Given the description of an element on the screen output the (x, y) to click on. 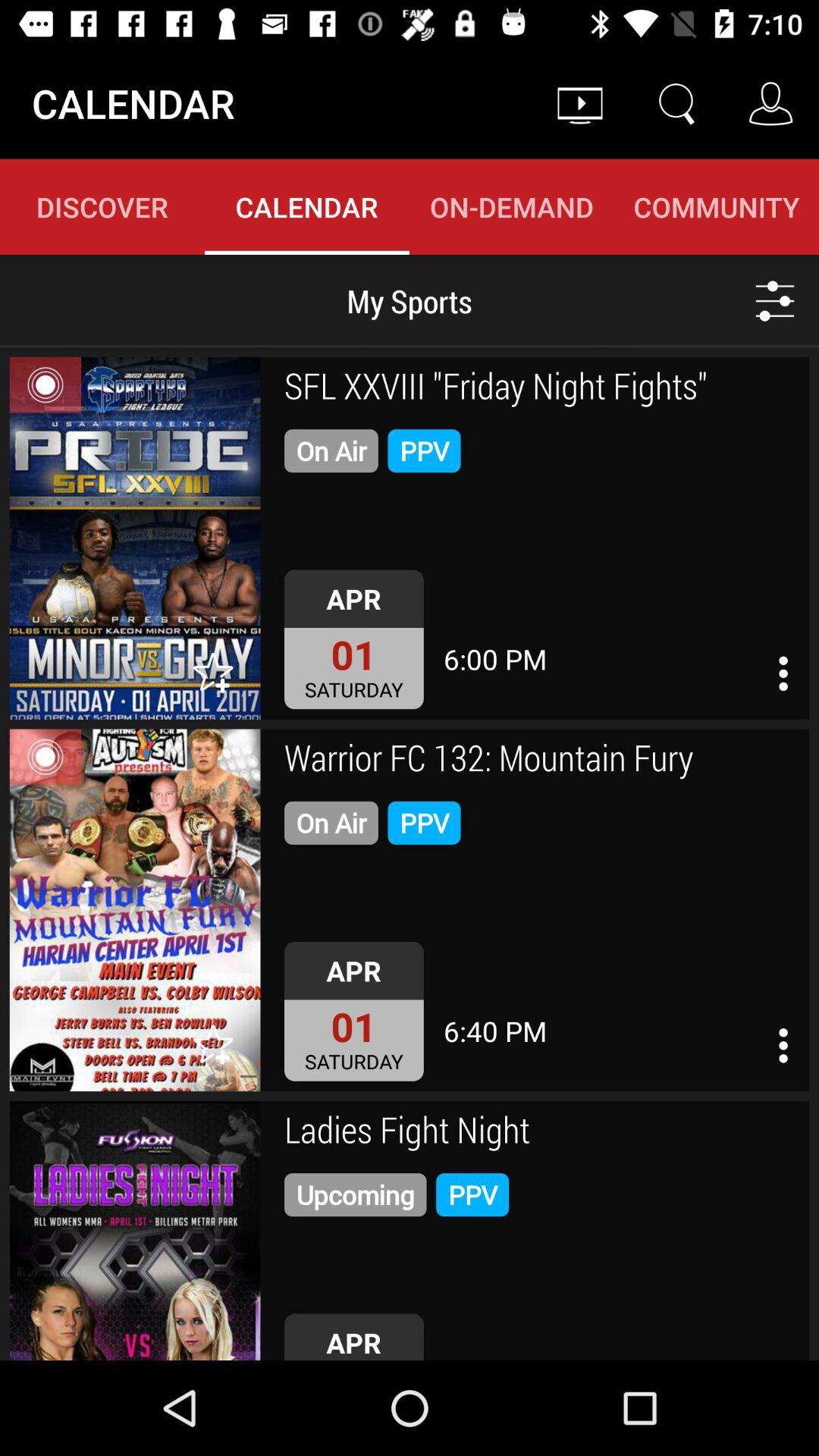
tap item to the right of the my sports item (775, 300)
